Given the description of an element on the screen output the (x, y) to click on. 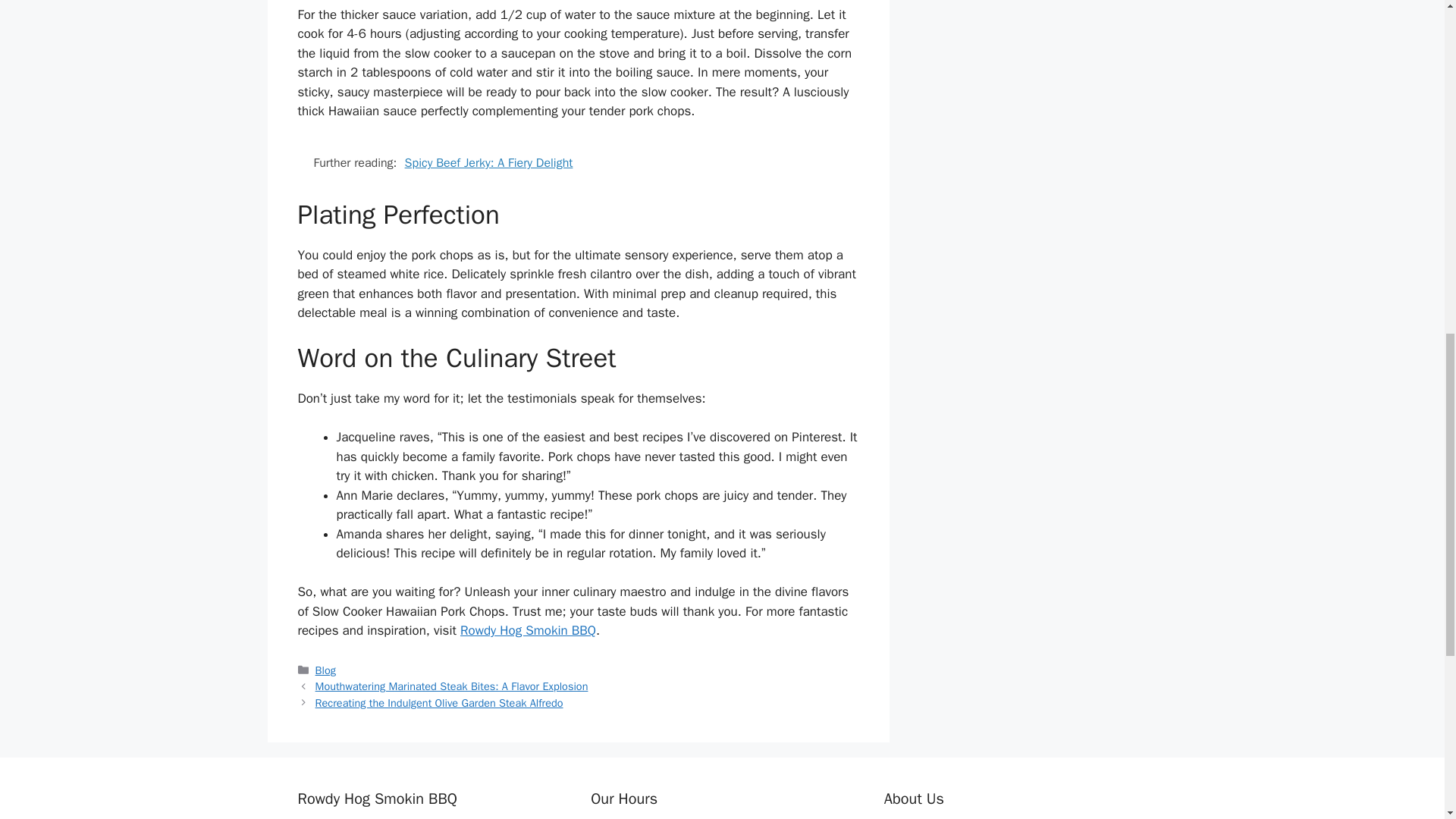
Mouthwatering Marinated Steak Bites: A Flavor Explosion (451, 685)
Further reading:  Spicy Beef Jerky: A Fiery Delight (578, 162)
Rowdy Hog Smokin BBQ (527, 630)
Recreating the Indulgent Olive Garden Steak Alfredo (439, 703)
Blog (325, 670)
